Given the description of an element on the screen output the (x, y) to click on. 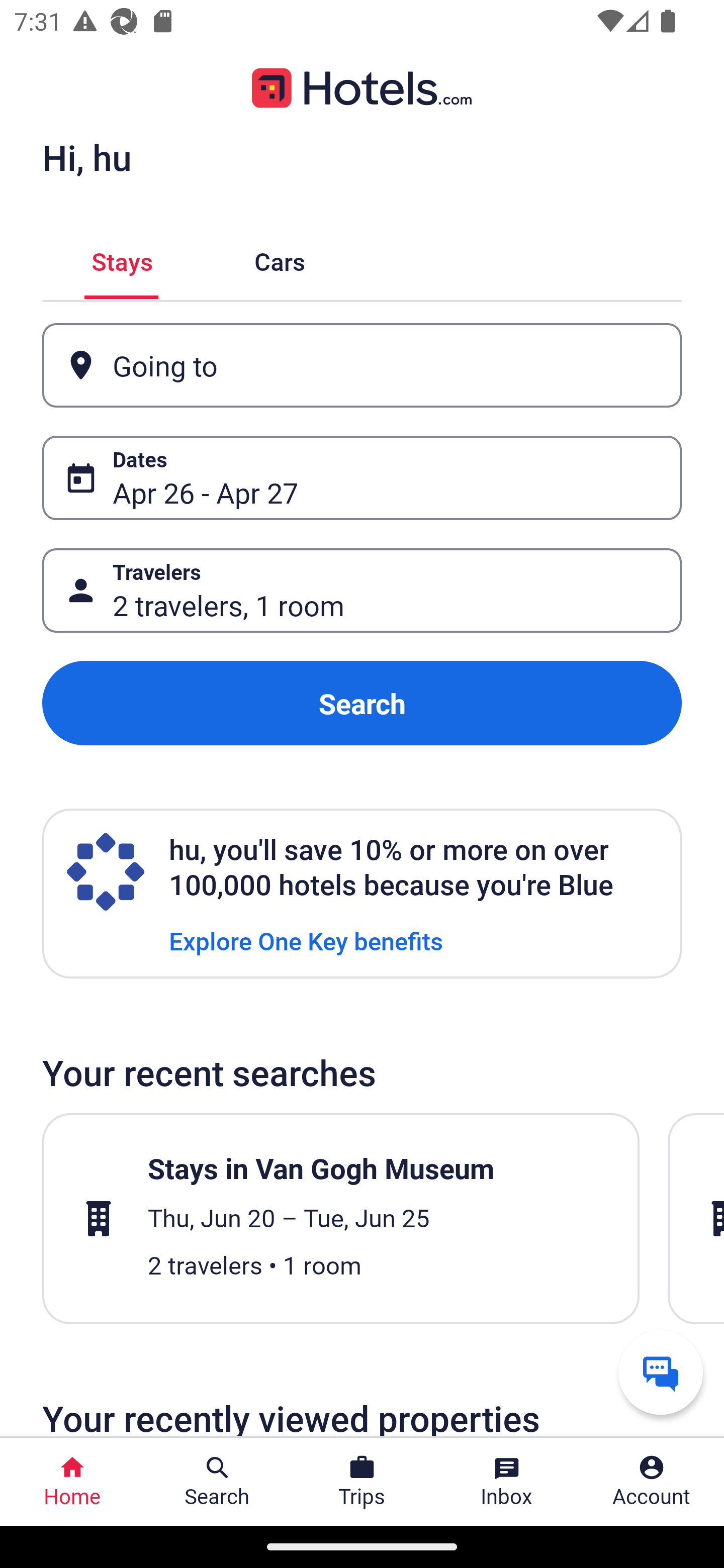
Hi, hu (86, 156)
Cars (279, 259)
Going to Button (361, 365)
Dates Button Apr 26 - Apr 27 (361, 477)
Travelers Button 2 travelers, 1 room (361, 590)
Search (361, 702)
Get help from a virtual agent (660, 1371)
Search Search Button (216, 1481)
Trips Trips Button (361, 1481)
Inbox Inbox Button (506, 1481)
Account Profile. Button (651, 1481)
